Given the description of an element on the screen output the (x, y) to click on. 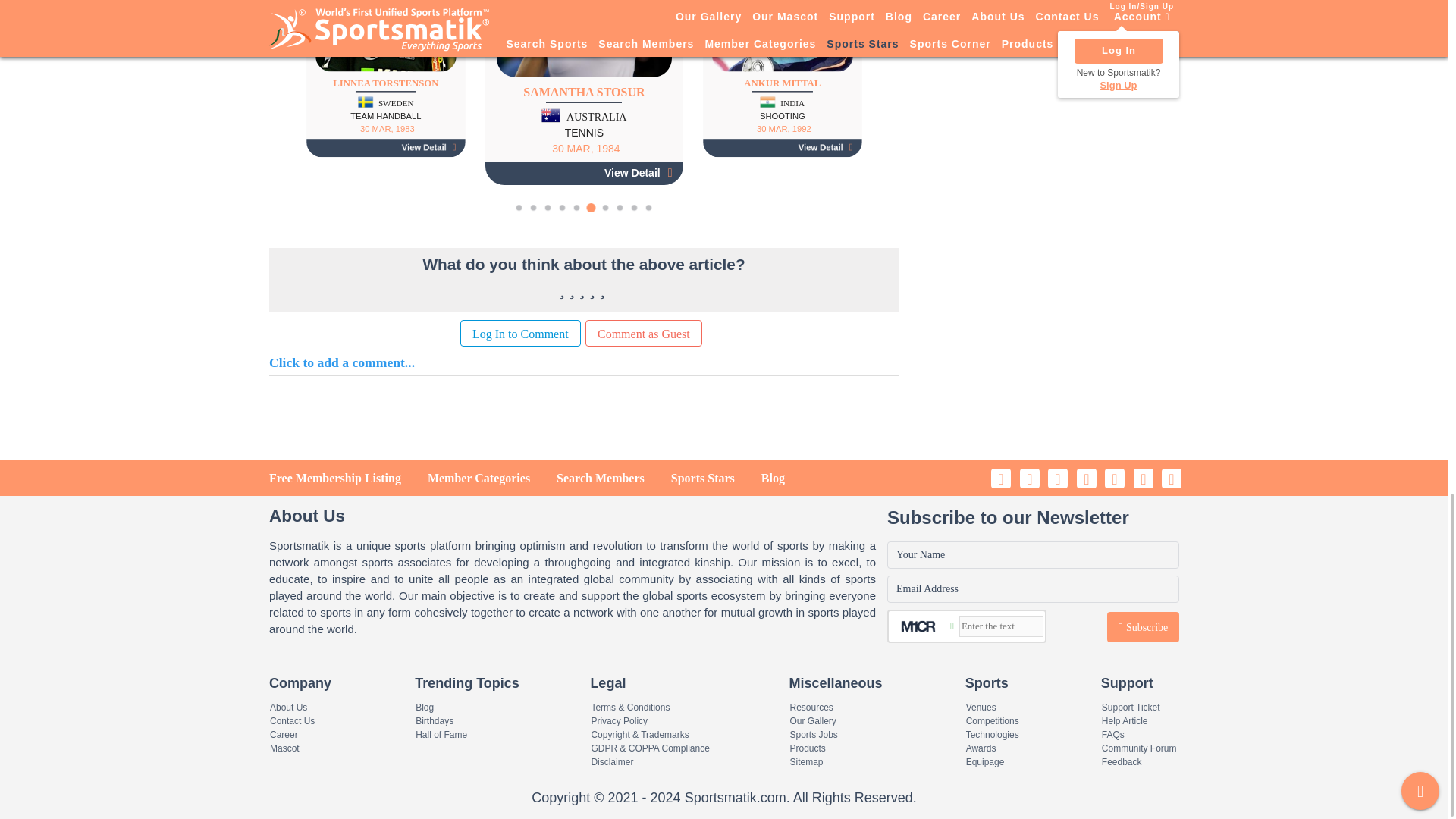
Rate Article (593, 288)
Comment as Guest (643, 333)
Log In to comment (520, 333)
Refresh Captcha (951, 625)
Rate Article (603, 288)
Rate Article (564, 288)
Rate Article (573, 288)
Rate Article (583, 288)
